Given the description of an element on the screen output the (x, y) to click on. 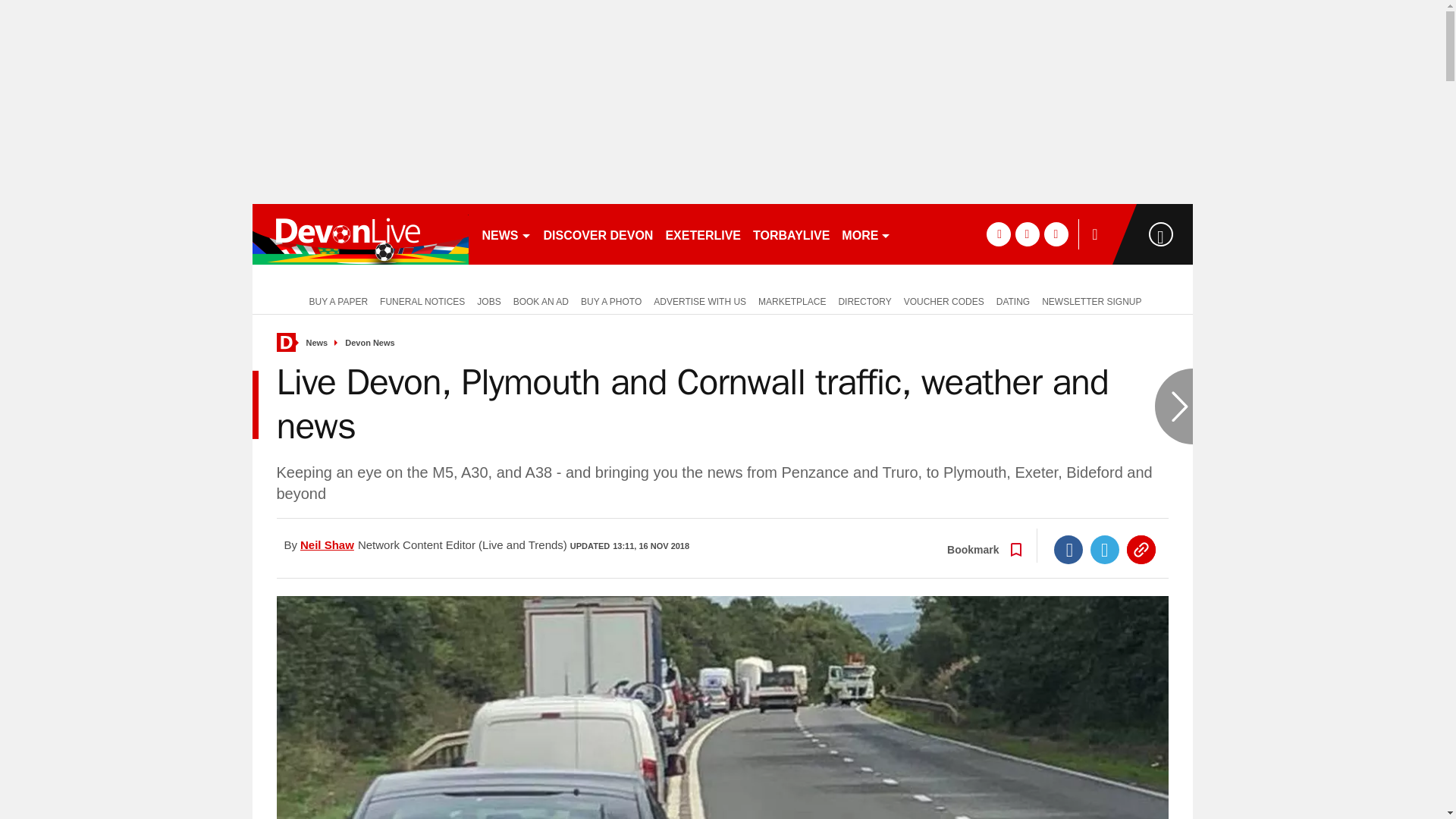
DISCOVER DEVON (598, 233)
twitter (1026, 233)
NEWS (506, 233)
instagram (1055, 233)
EXETERLIVE (702, 233)
devonlive (359, 233)
Twitter (1104, 549)
TORBAYLIVE (790, 233)
MORE (865, 233)
facebook (997, 233)
Facebook (1068, 549)
